Given the description of an element on the screen output the (x, y) to click on. 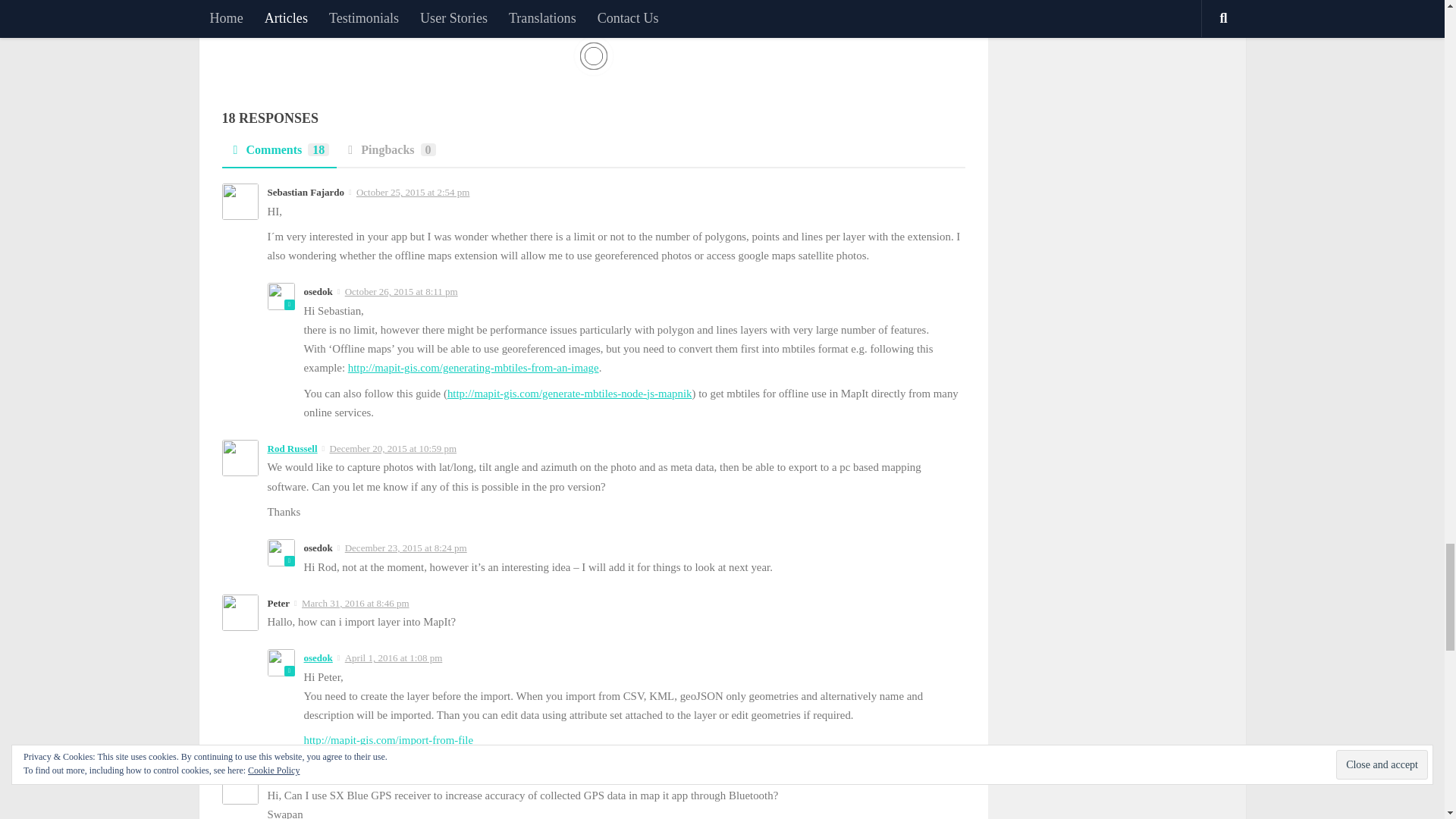
Pingbacks0 (389, 154)
December 20, 2015 at 10:59 pm (393, 448)
December 23, 2015 at 8:24 pm (406, 547)
Rod Russell (291, 448)
October 26, 2015 at 8:11 pm (401, 291)
Comments18 (278, 154)
October 25, 2015 at 2:54 pm (412, 192)
